Given the description of an element on the screen output the (x, y) to click on. 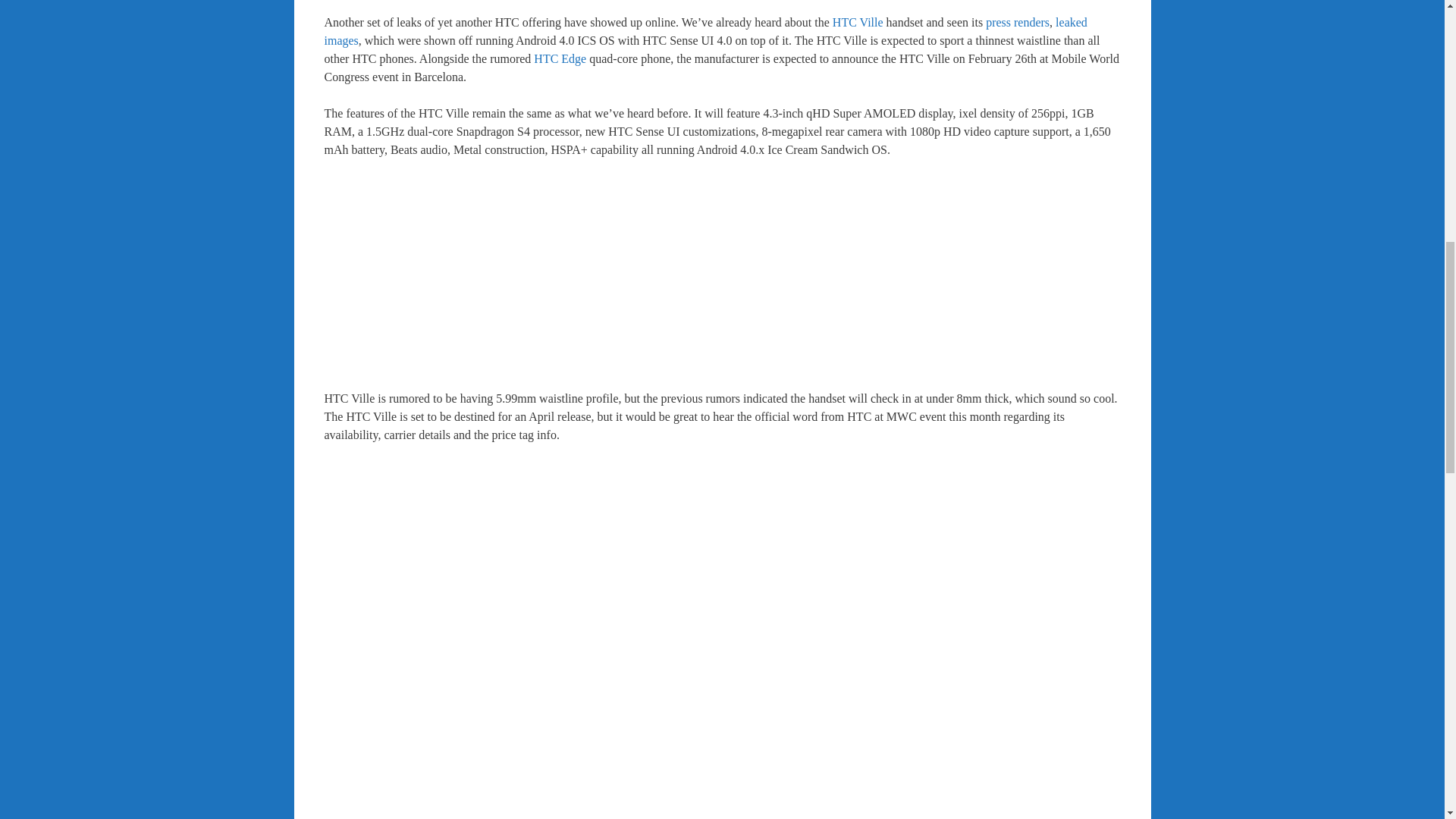
HTC Edge (560, 58)
leaked images (705, 30)
press renders (1017, 21)
HTC Ville (857, 21)
Scroll back to top (1406, 720)
